Given the description of an element on the screen output the (x, y) to click on. 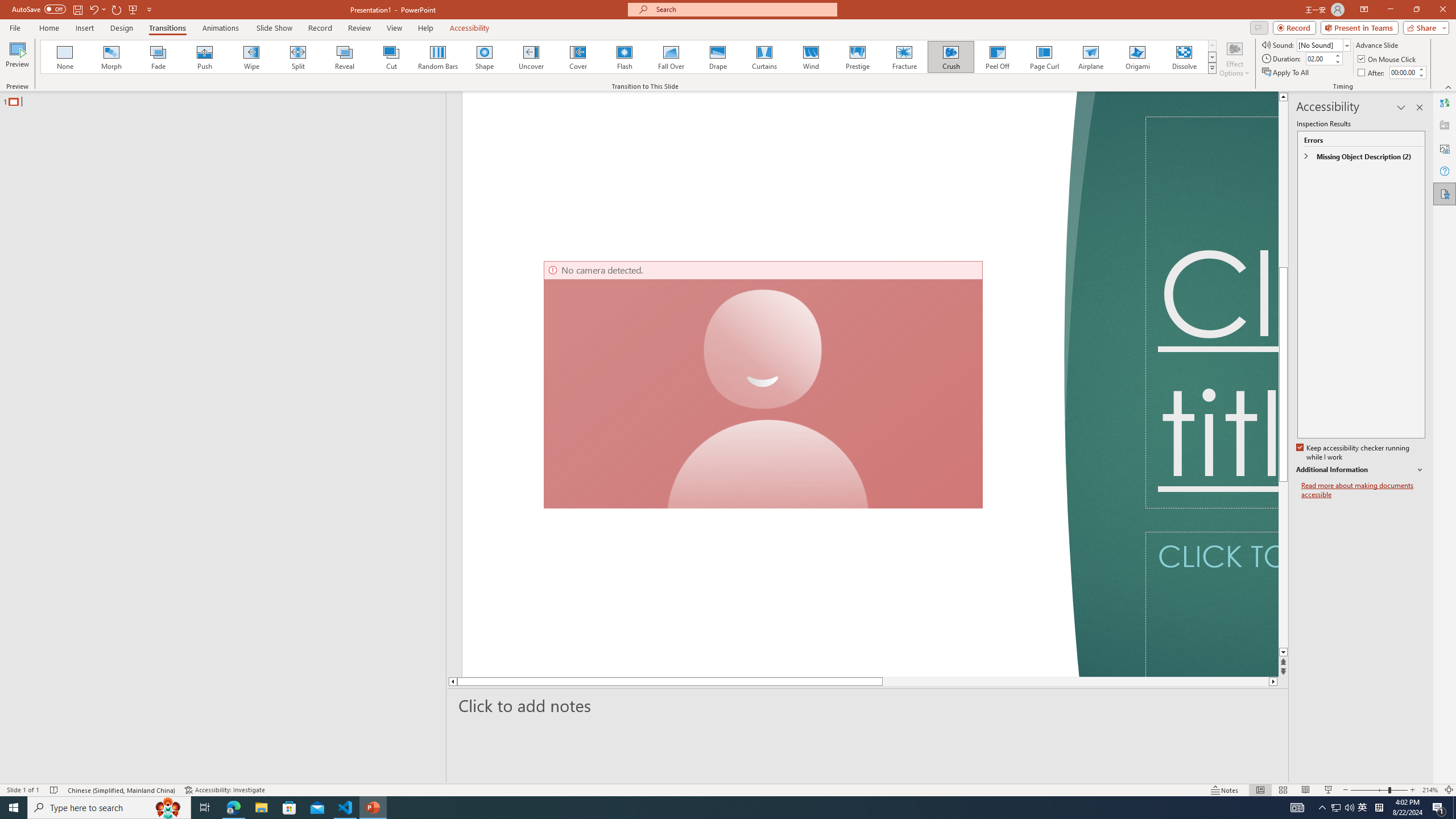
AutomationID: AnimationTransitionGallery (628, 56)
Curtains (764, 56)
Zoom 214% (1430, 790)
Fracture (903, 56)
